Given the description of an element on the screen output the (x, y) to click on. 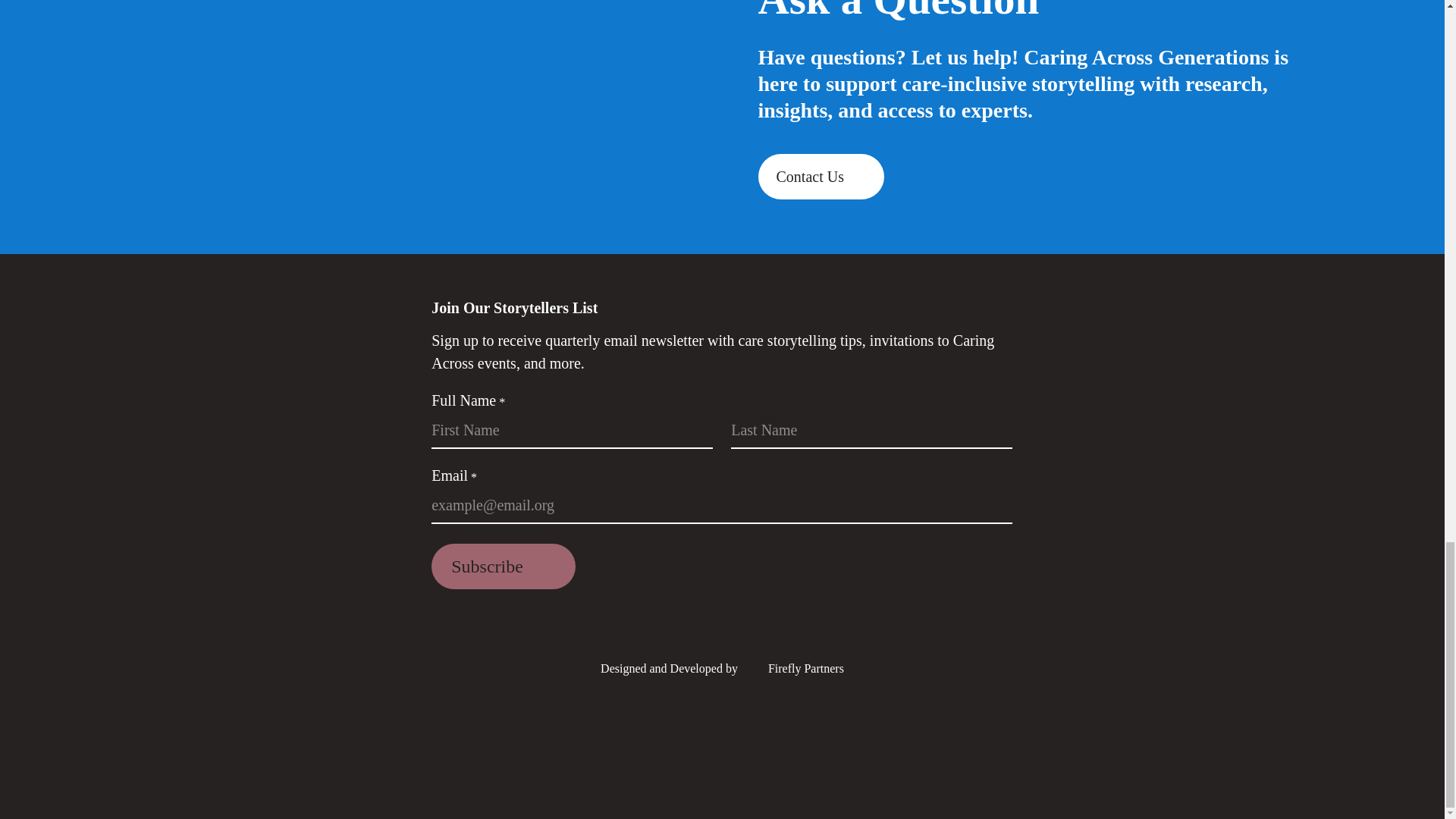
Contact Us (820, 176)
Subscribe (502, 565)
Firefly Partners (792, 667)
Subscribe (502, 565)
